Given the description of an element on the screen output the (x, y) to click on. 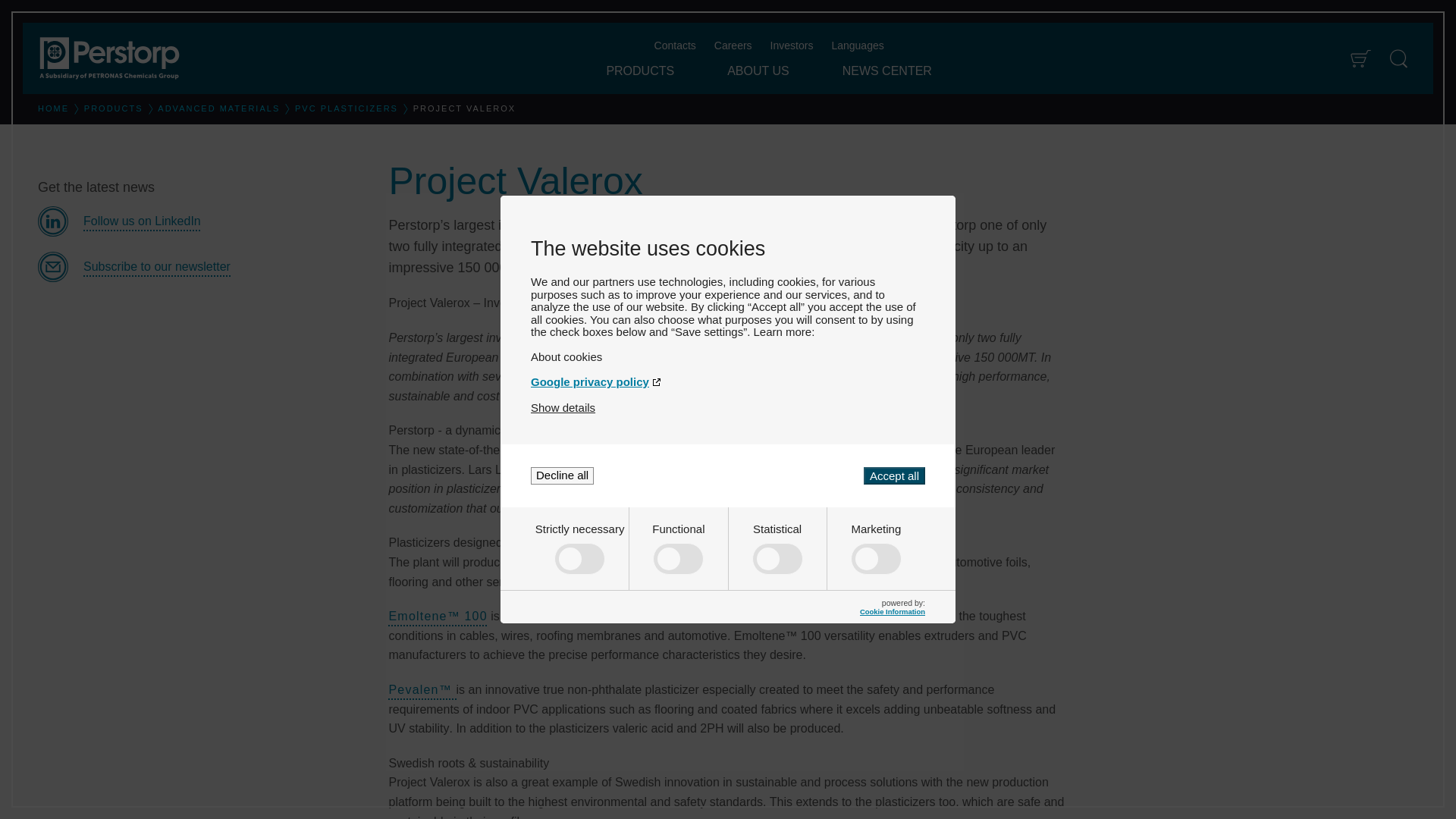
Accept all (893, 475)
Cookie Information (892, 611)
Google privacy policy (727, 381)
Decline all (562, 475)
LinkedIn (201, 221)
Show details (563, 407)
About cookies (727, 356)
